Given the description of an element on the screen output the (x, y) to click on. 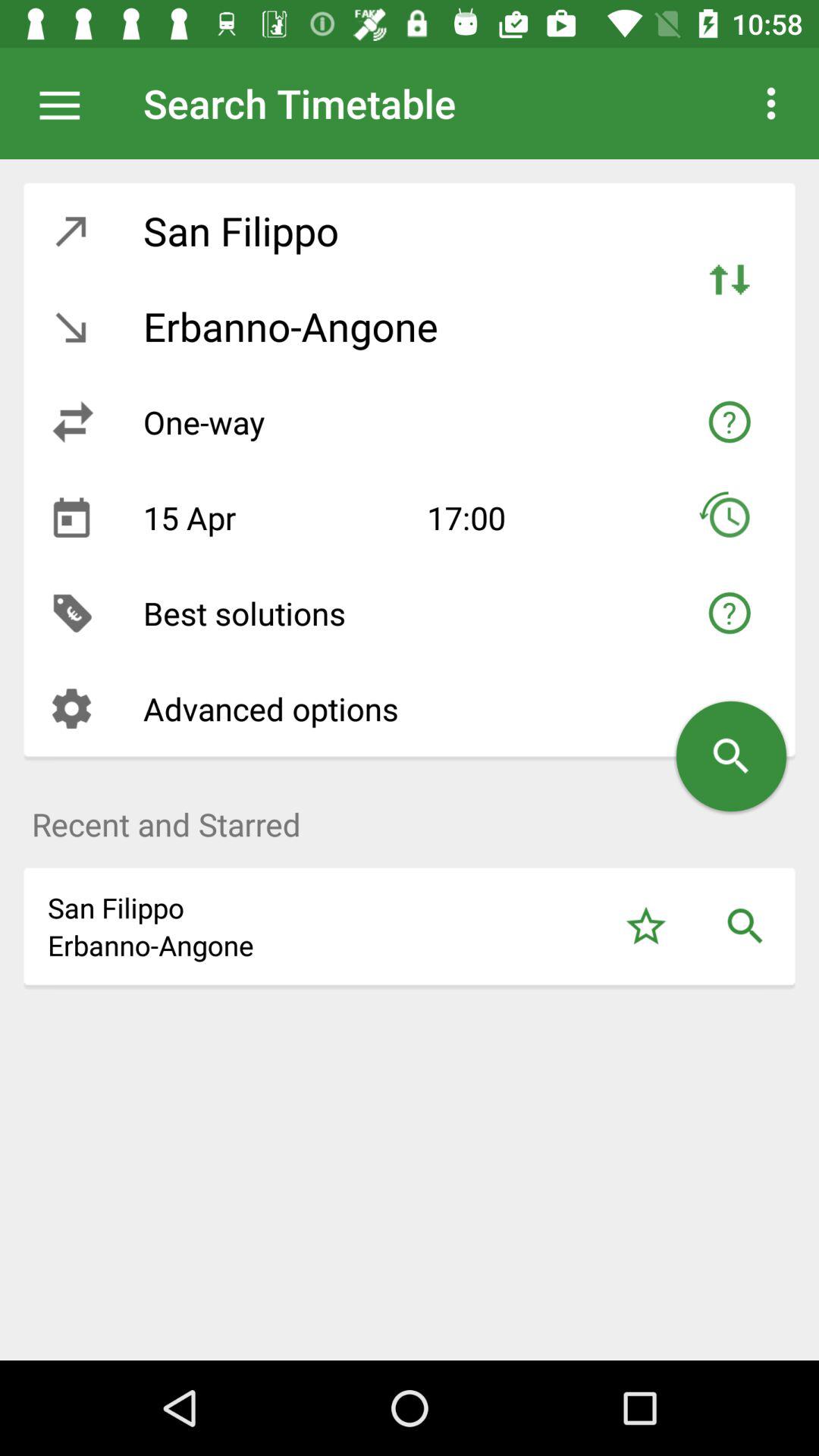
open item to the right of the san filippo (729, 278)
